Given the description of an element on the screen output the (x, y) to click on. 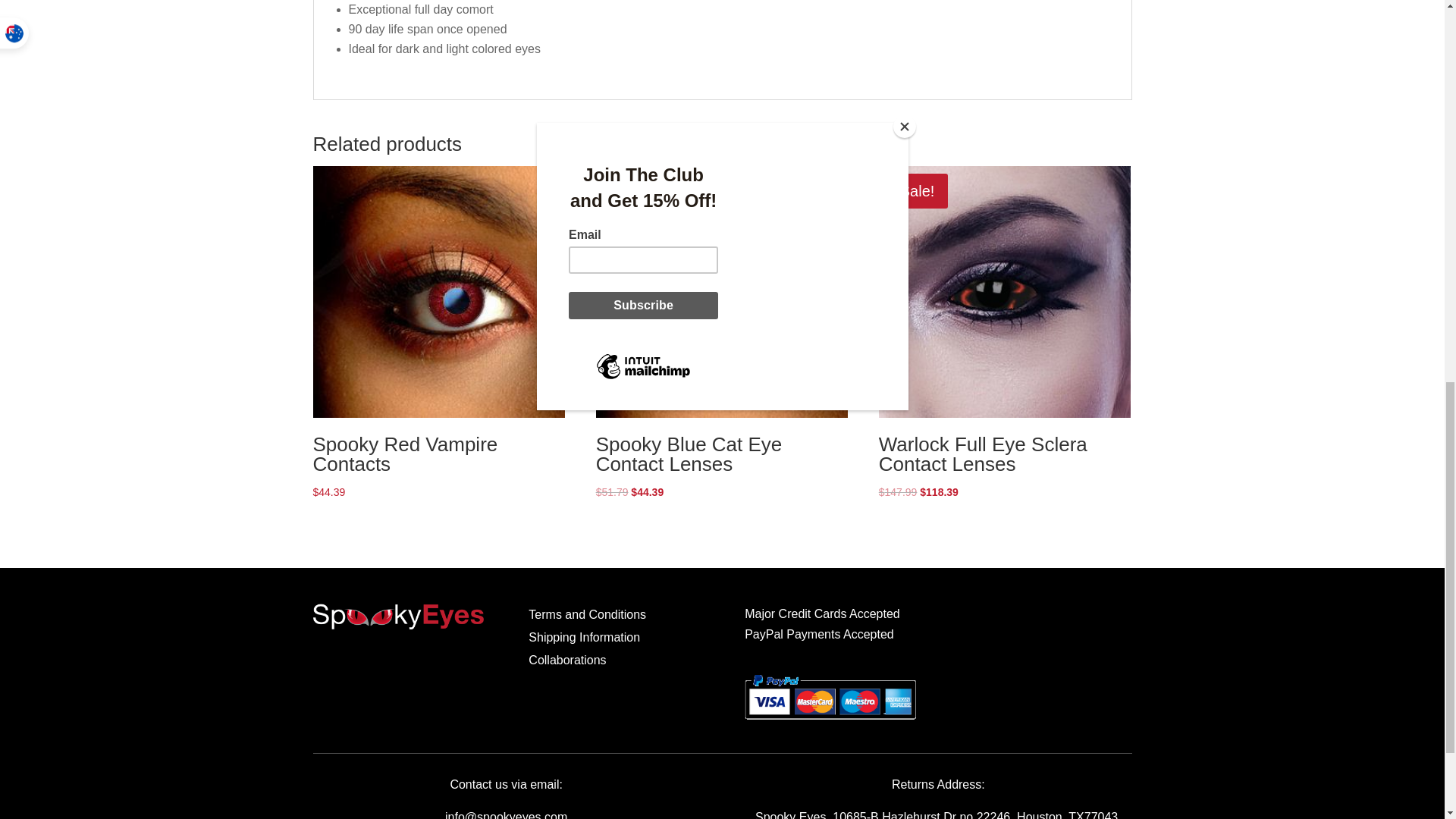
How PayPal Works (829, 721)
header-logo (398, 616)
